Given the description of an element on the screen output the (x, y) to click on. 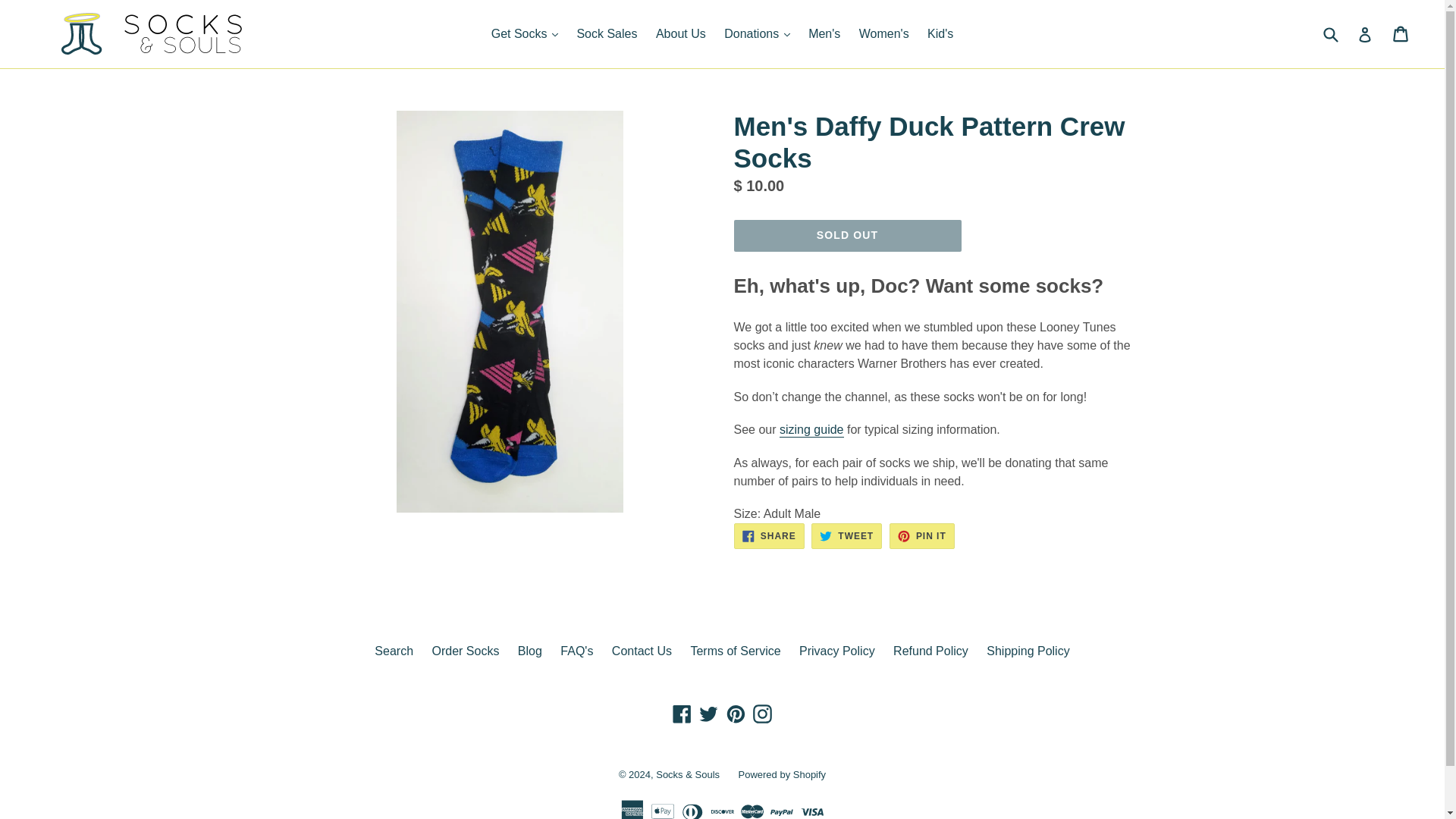
Share on Facebook (769, 535)
Socks and Souls Sizing Guide (811, 430)
Tweet on Twitter (846, 535)
Pin on Pinterest (922, 535)
